Given the description of an element on the screen output the (x, y) to click on. 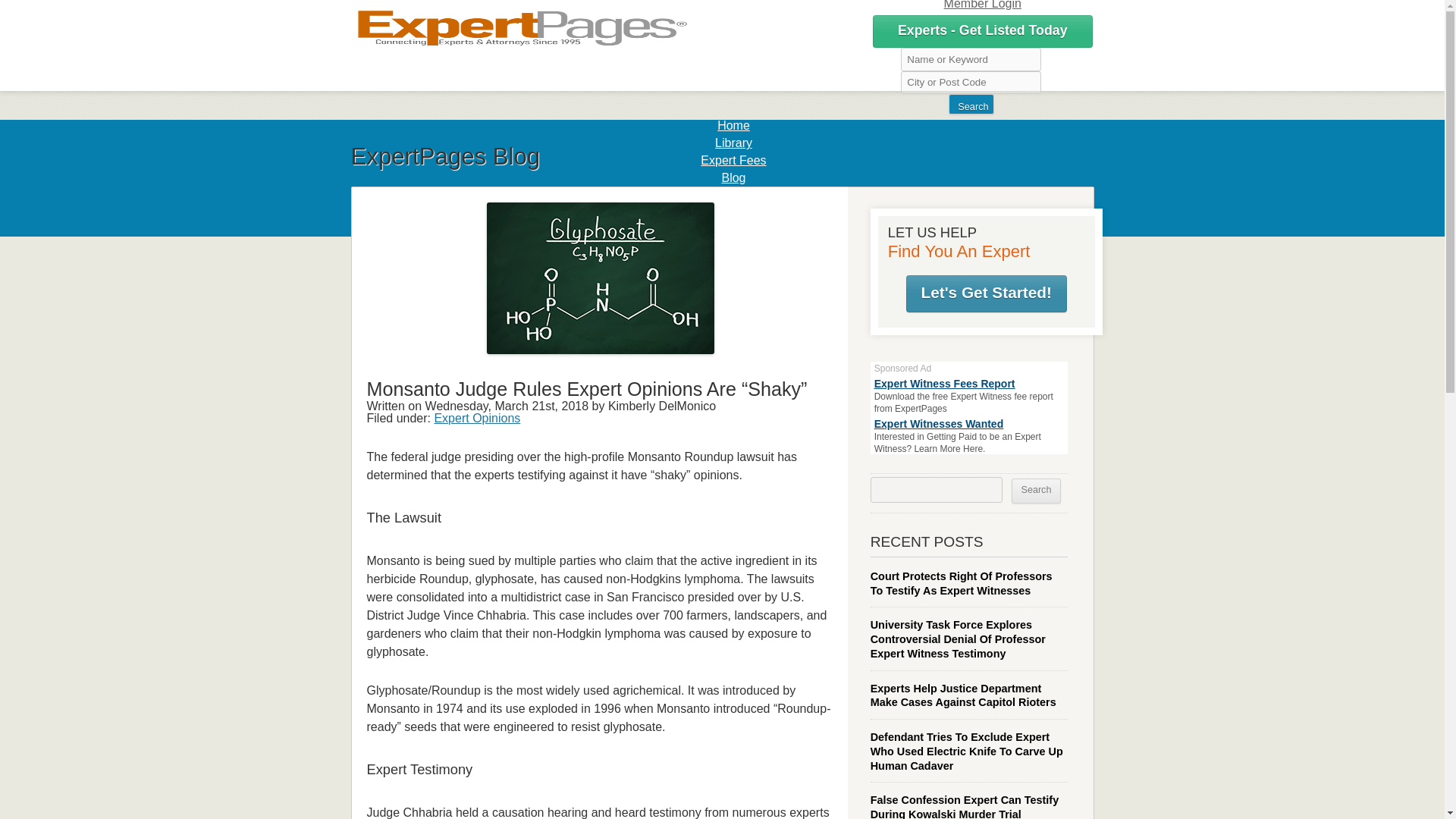
How Much do Expert Witnesses Charge (732, 160)
Experts - Get Listed Today (982, 31)
Home (733, 124)
Articles for and about Expert Witnesses (732, 177)
Download the free Expert Witness fee report from ExpertPages (963, 402)
Expert Categories (733, 195)
Blog (732, 177)
Expert Witness Fees Report (944, 382)
Member Login (982, 4)
About Us (733, 229)
Library (733, 142)
Search (971, 104)
Experts (733, 195)
Let's Get Started! (986, 293)
The Expert Witness Reading Library (733, 142)
